Given the description of an element on the screen output the (x, y) to click on. 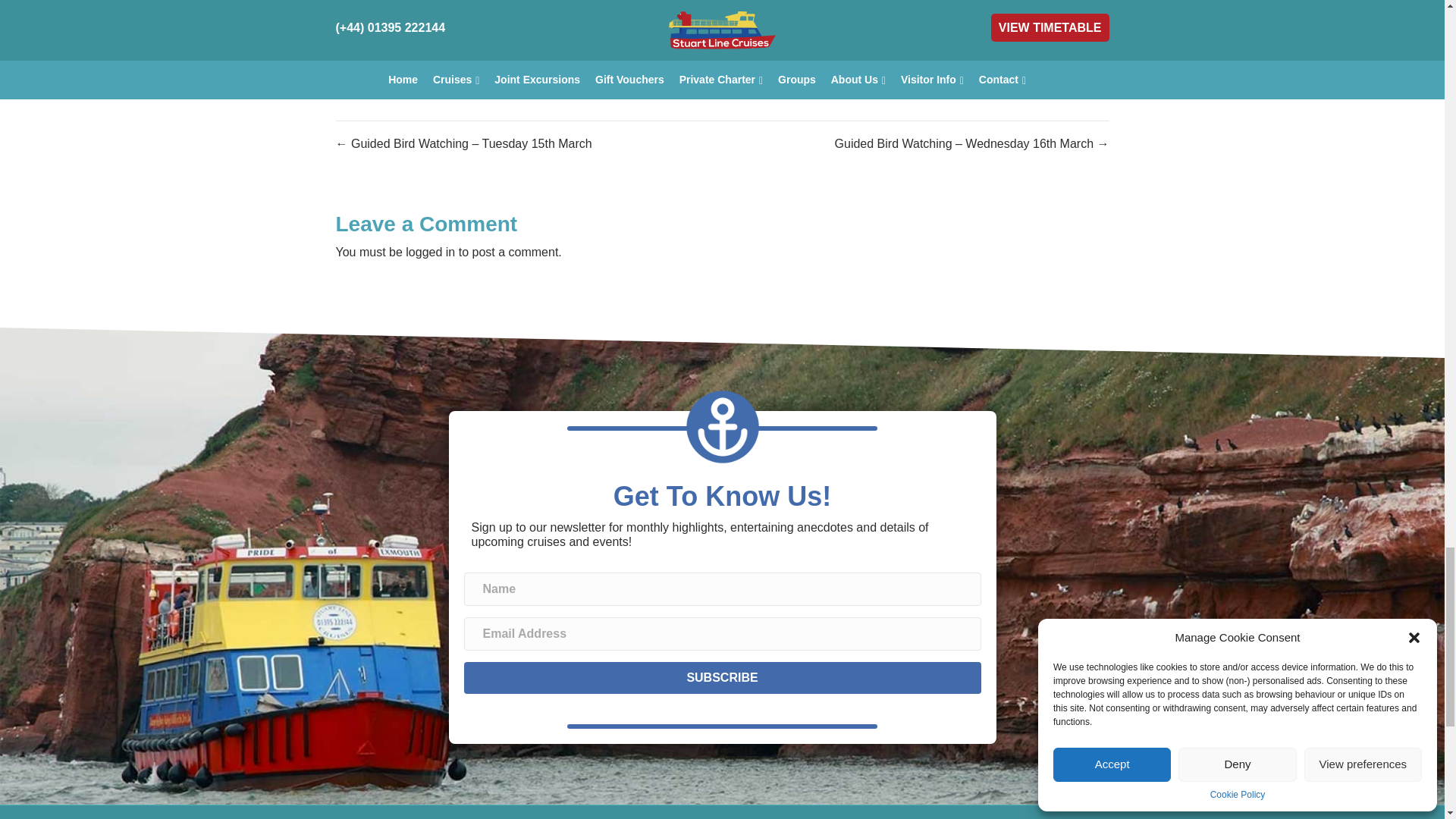
Anchor-Icon-Blue (722, 427)
